Given the description of an element on the screen output the (x, y) to click on. 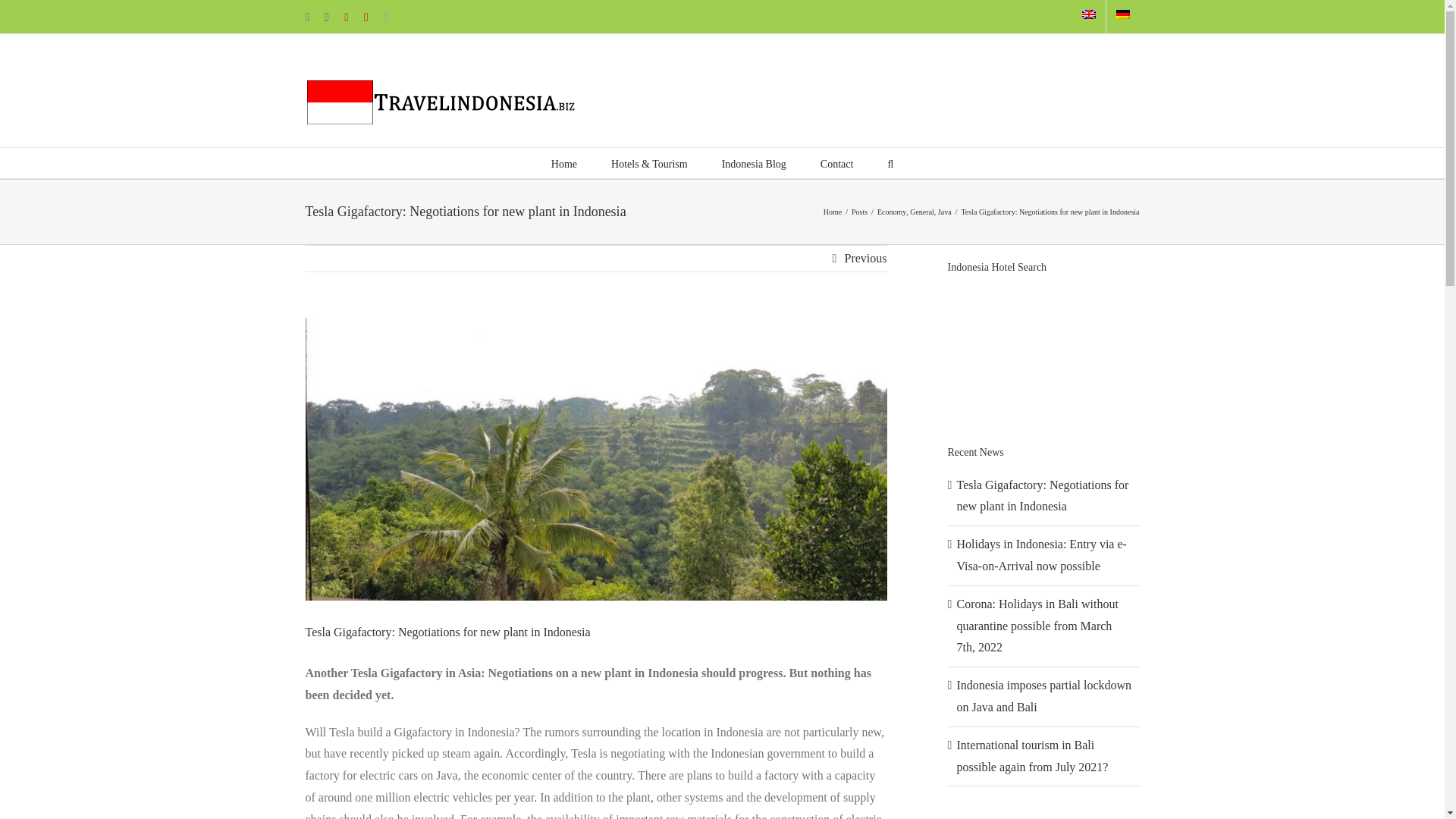
General (922, 212)
Java (944, 212)
Previous (865, 258)
Contact (837, 163)
Posts (859, 212)
Indonesia Blog (754, 163)
Home (832, 212)
Economy (891, 212)
